Given the description of an element on the screen output the (x, y) to click on. 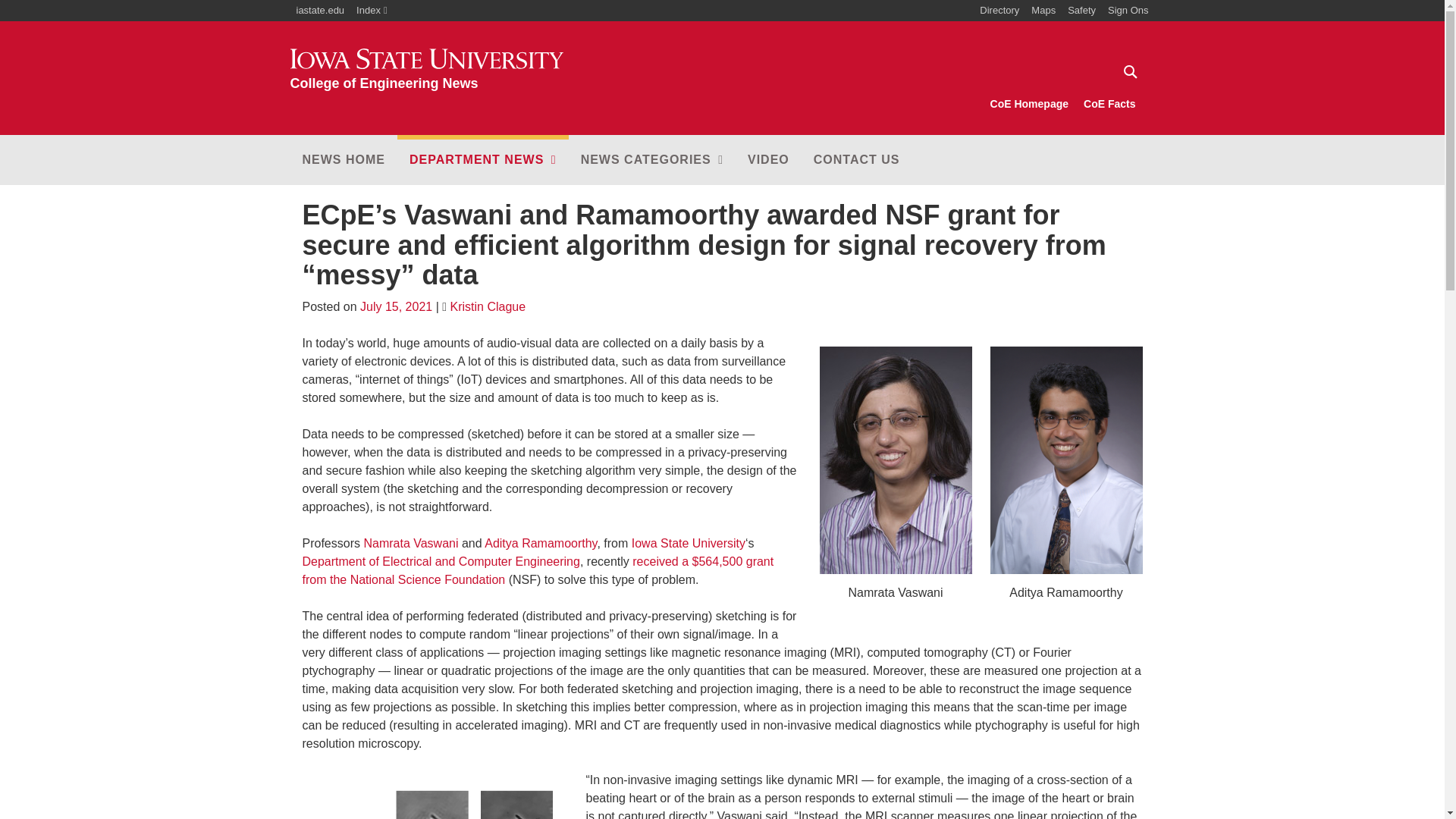
CoE Homepage (1028, 103)
Home (425, 69)
CoE Facts (1108, 103)
Directory (999, 10)
Search (1128, 71)
Index (371, 10)
Sign Ons (1128, 10)
iastate.edu (319, 10)
Safety (1081, 10)
Maps (425, 69)
DEPARTMENT NEWS (1043, 10)
NEWS HOME (483, 160)
